Given the description of an element on the screen output the (x, y) to click on. 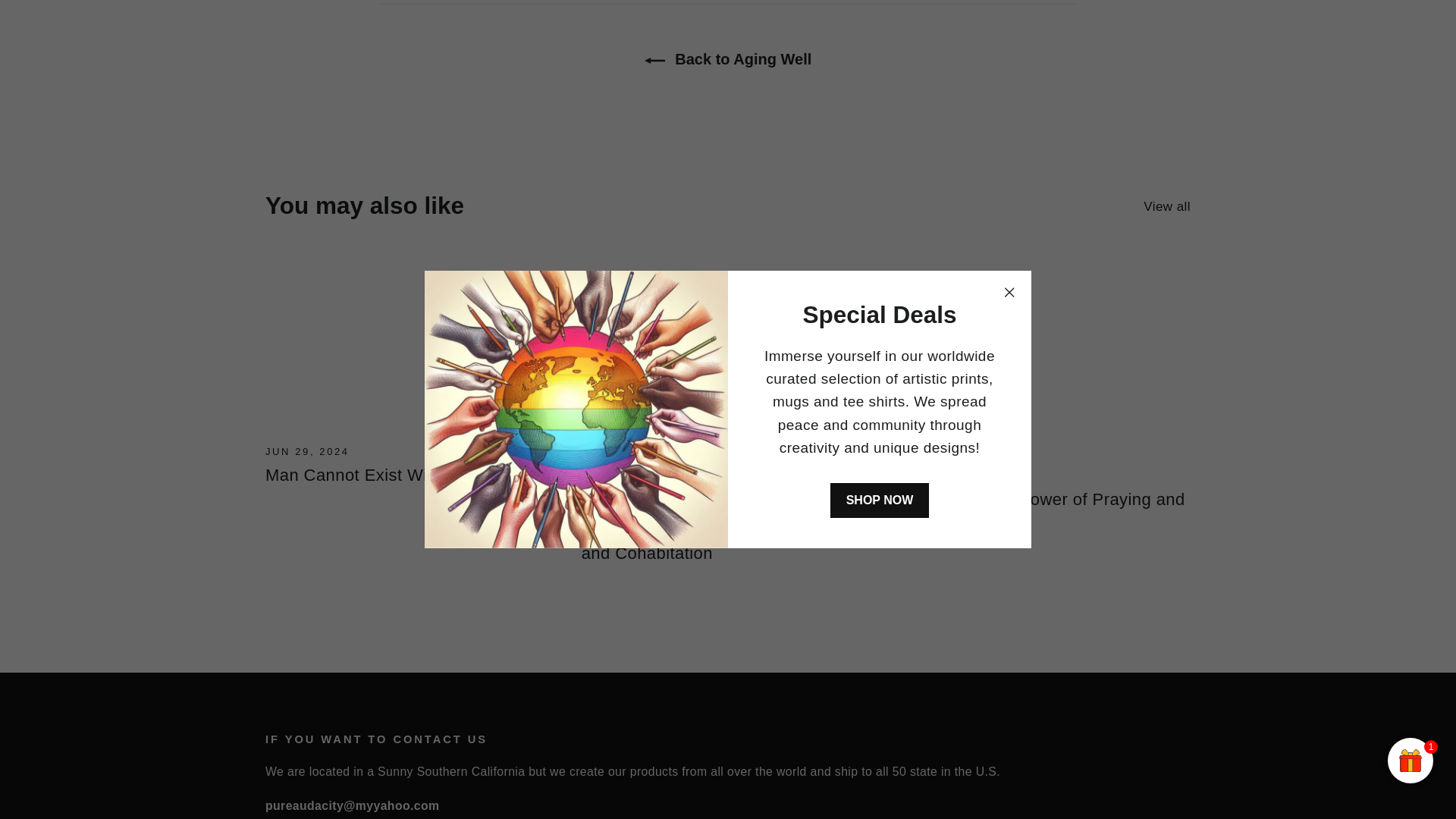
icon-left-arrow (655, 60)
